Given the description of an element on the screen output the (x, y) to click on. 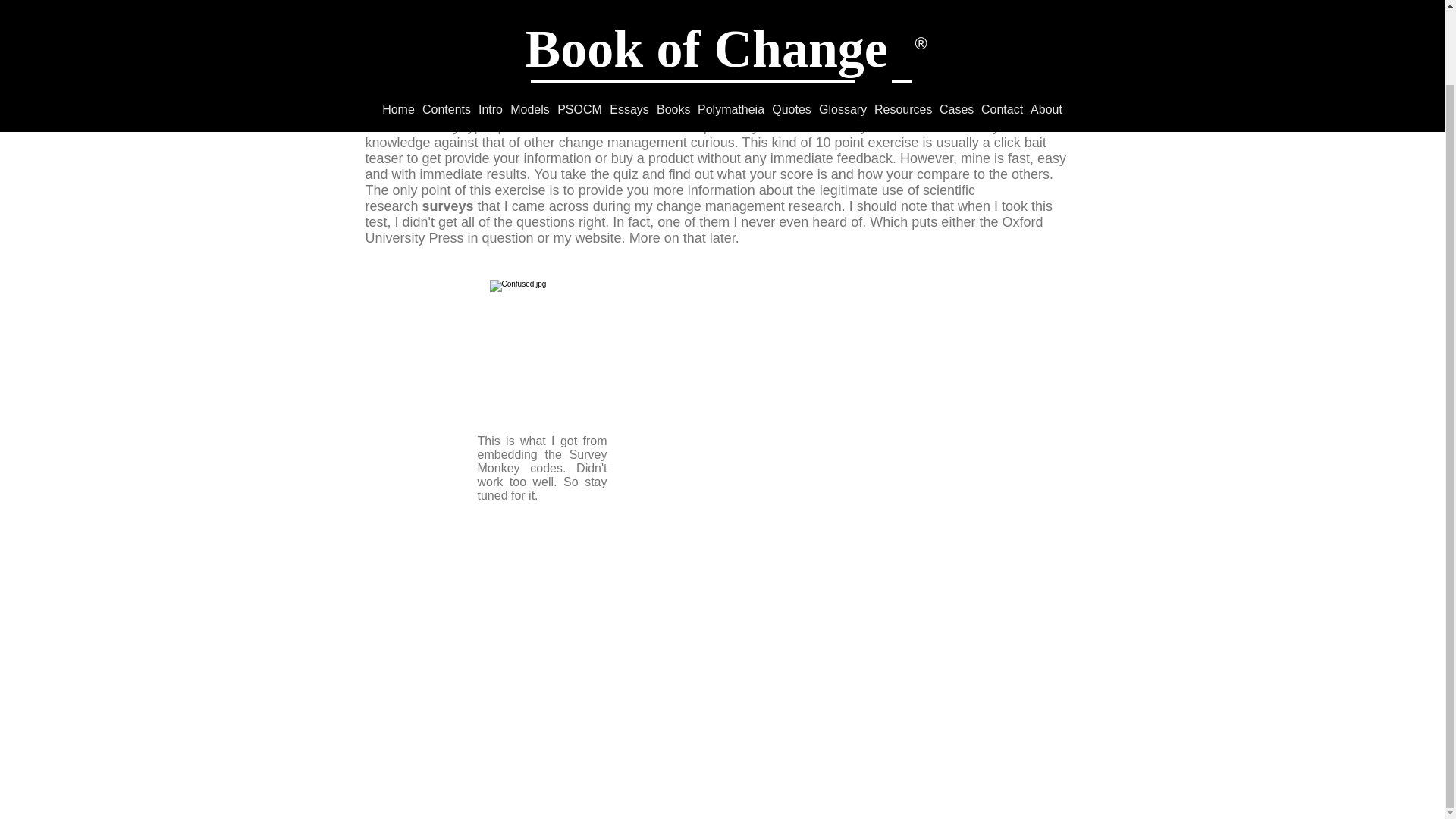
Cases (956, 26)
Quotes (791, 26)
About (1045, 26)
Glossary (842, 26)
Contents (446, 26)
Books (673, 26)
PSOCM (579, 26)
Intro (490, 26)
Essays (628, 26)
Contact (1001, 26)
